Given the description of an element on the screen output the (x, y) to click on. 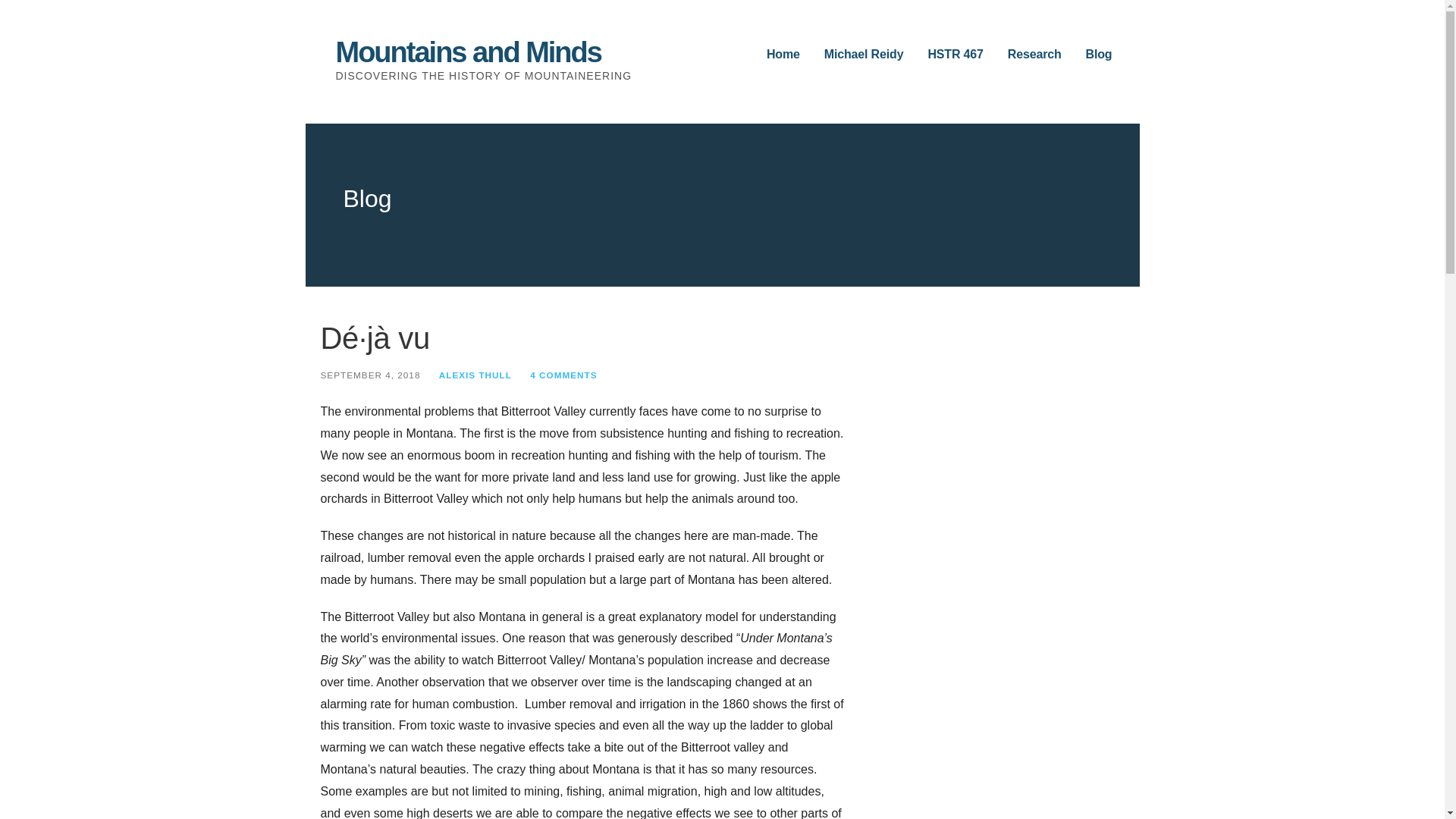
Home (783, 55)
Michael Reidy  (864, 55)
Research (1034, 55)
Mountains and Minds (466, 51)
HSTR 467 (954, 55)
Posts by Alexis Thull (475, 375)
ALEXIS THULL (475, 375)
Michael Reidy (864, 55)
4 COMMENTS (562, 375)
